Given the description of an element on the screen output the (x, y) to click on. 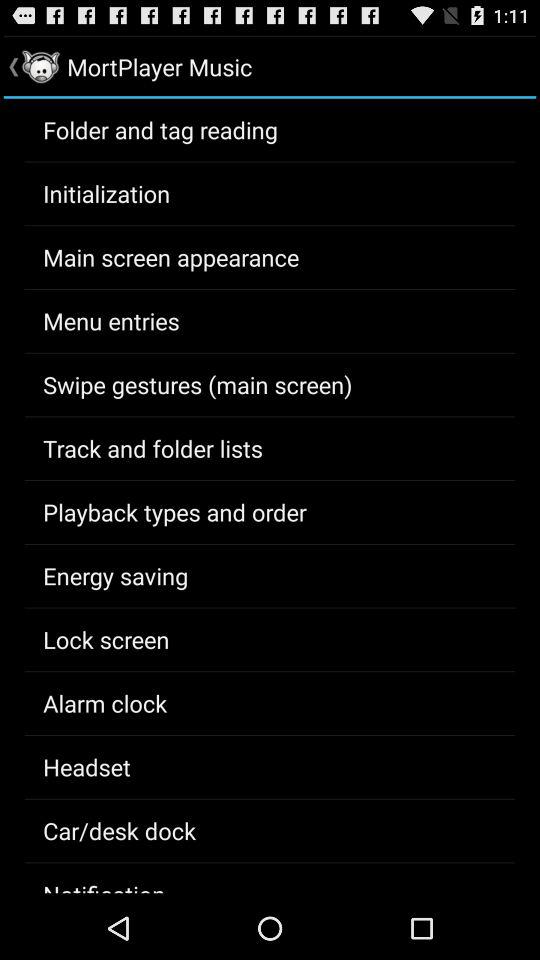
open app below the playback types and icon (115, 575)
